Given the description of an element on the screen output the (x, y) to click on. 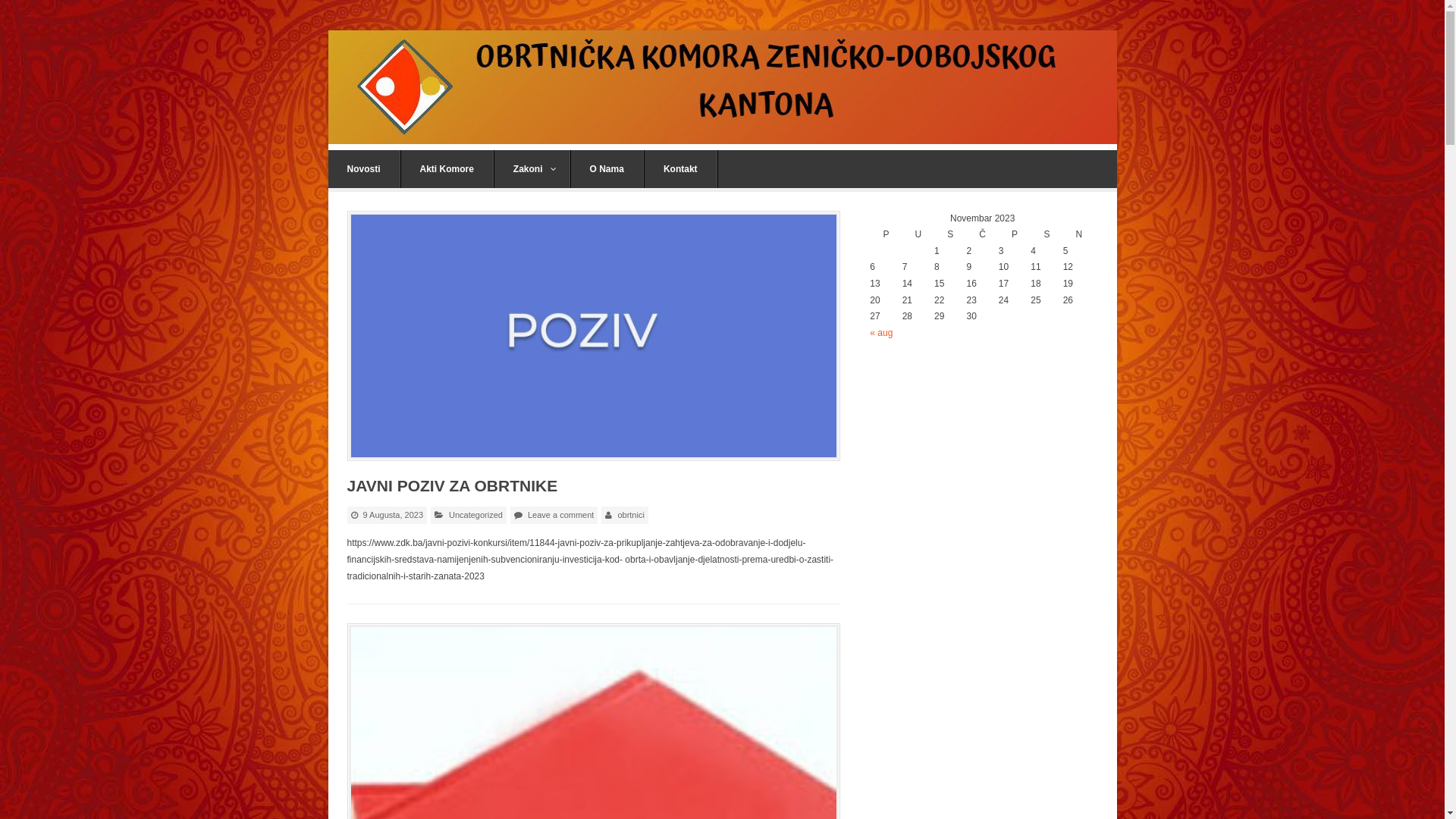
Uncategorized Element type: text (475, 514)
Akti Komore Element type: text (446, 169)
JAVNI POZIV ZA OBRTNIKE Element type: text (452, 485)
JAVNI POZIV ZA OBRTNIKE Element type: hover (593, 335)
O Nama Element type: text (606, 169)
Zakoni Element type: text (531, 169)
Leave a comment Element type: text (560, 514)
obrtnici Element type: text (630, 514)
Kontakt Element type: text (680, 169)
Novosti Element type: text (363, 169)
